Given the description of an element on the screen output the (x, y) to click on. 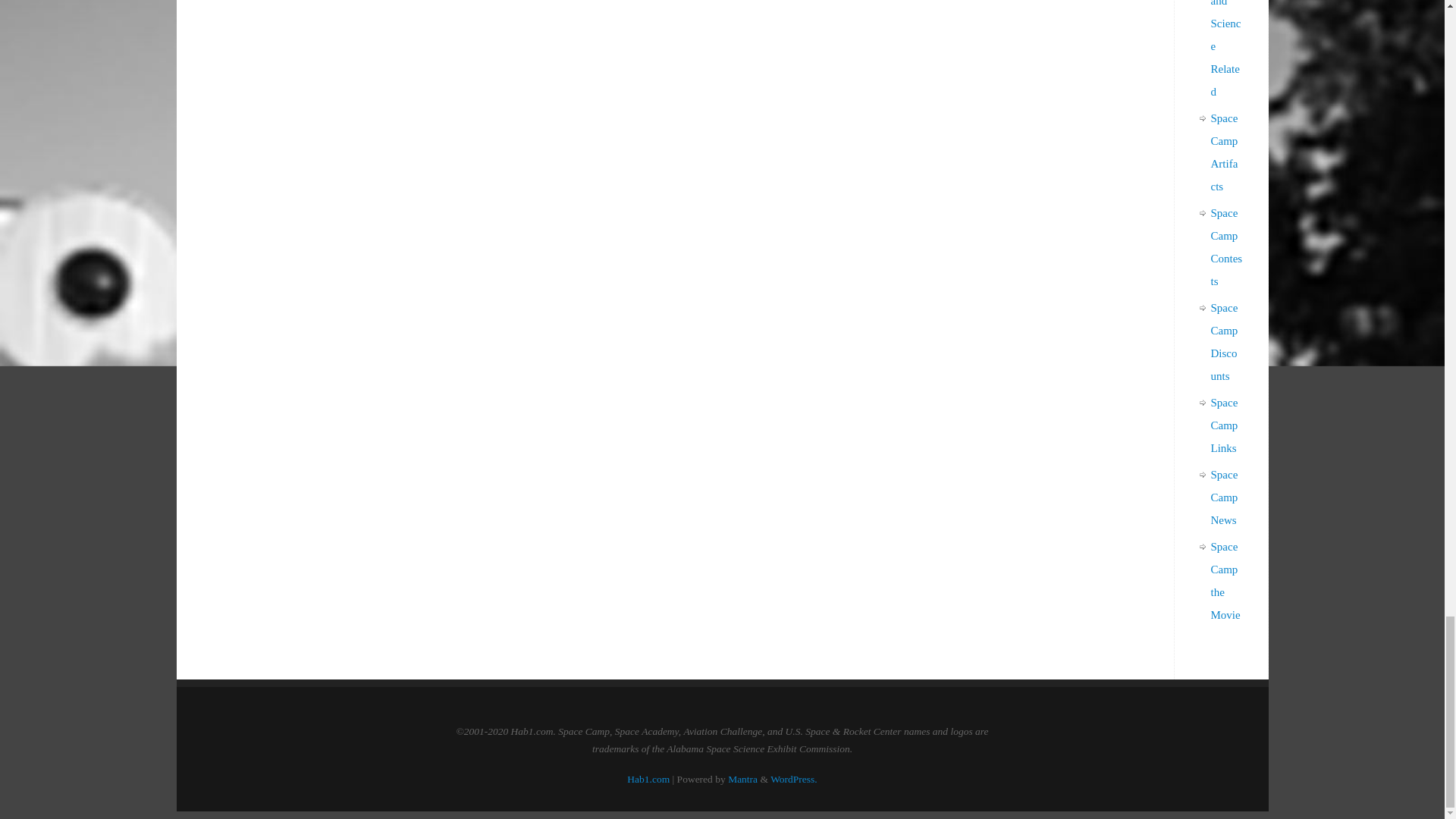
Hab1.com (648, 778)
